Given the description of an element on the screen output the (x, y) to click on. 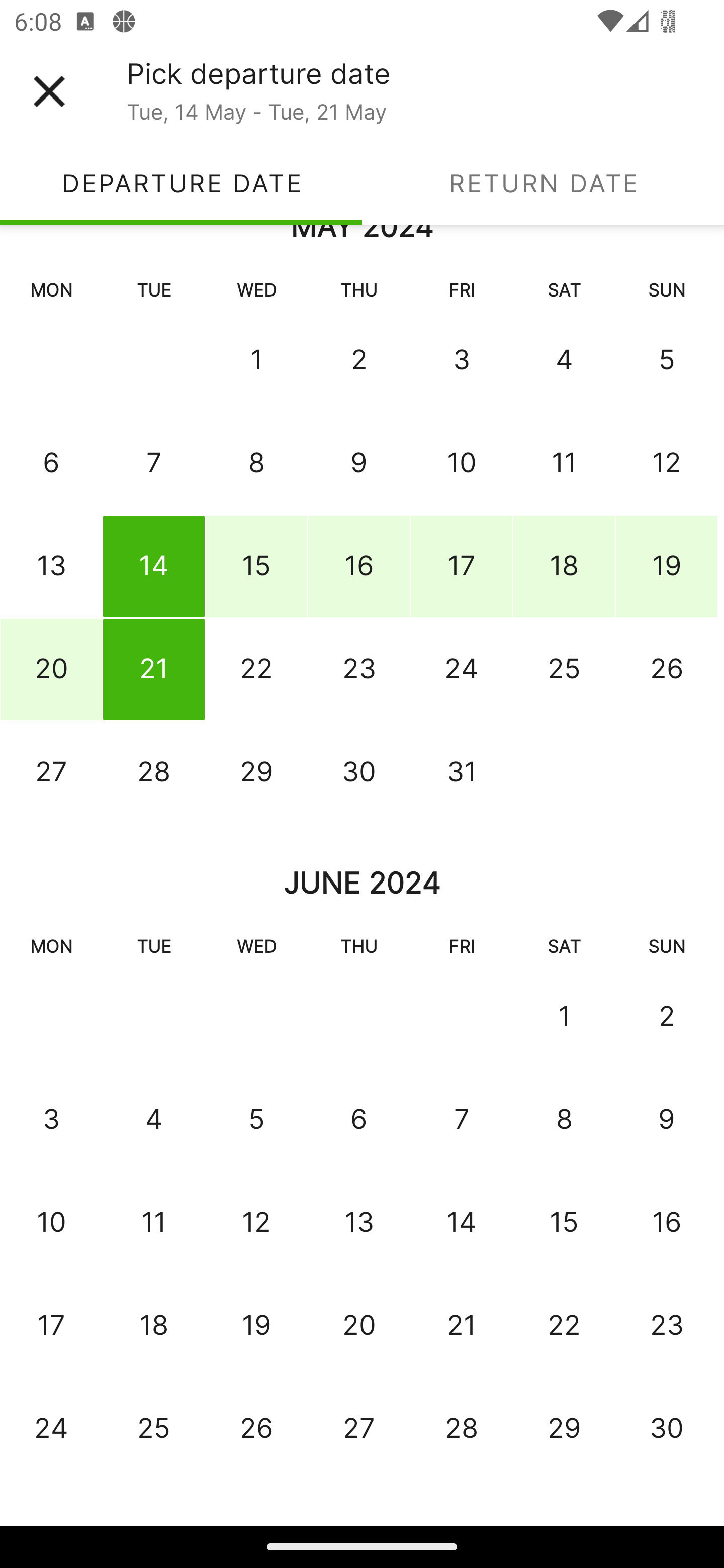
Return Date RETURN DATE (543, 183)
